Given the description of an element on the screen output the (x, y) to click on. 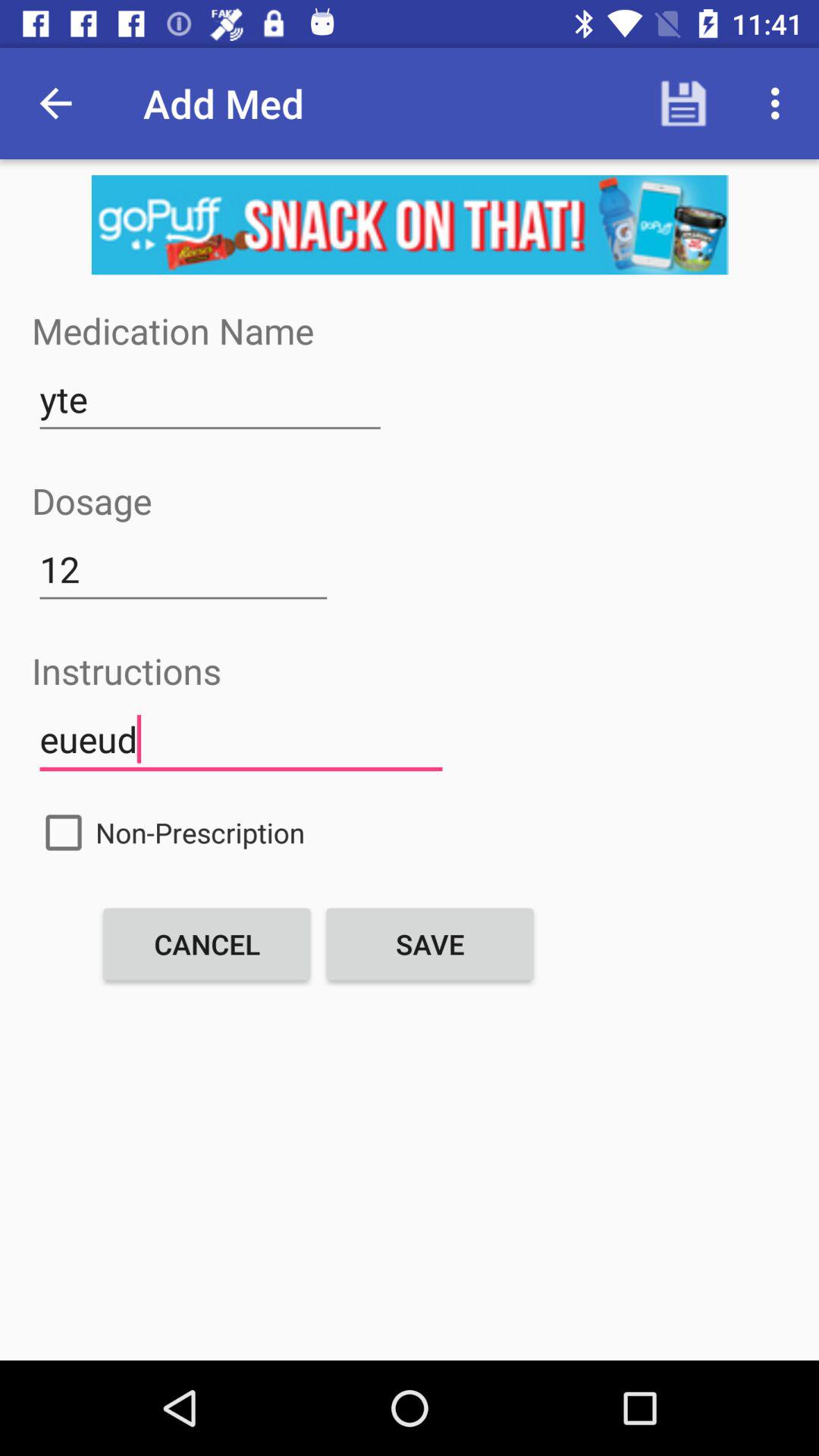
view advertisement (409, 224)
